Given the description of an element on the screen output the (x, y) to click on. 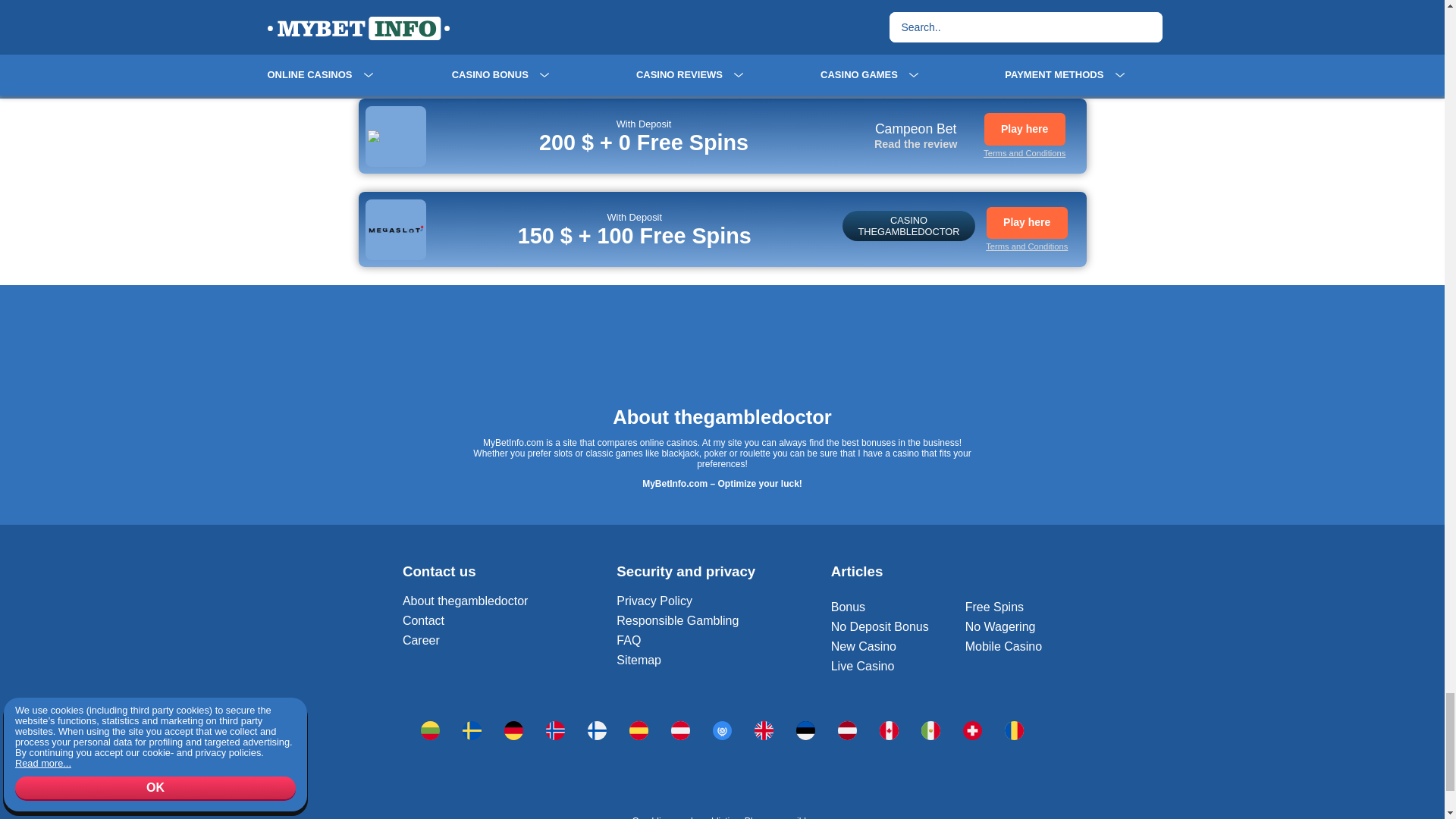
Spinaru (555, 730)
Spinaru (512, 730)
Spinaru (597, 730)
Spinaru (680, 730)
Spinaru (888, 730)
